Given the description of an element on the screen output the (x, y) to click on. 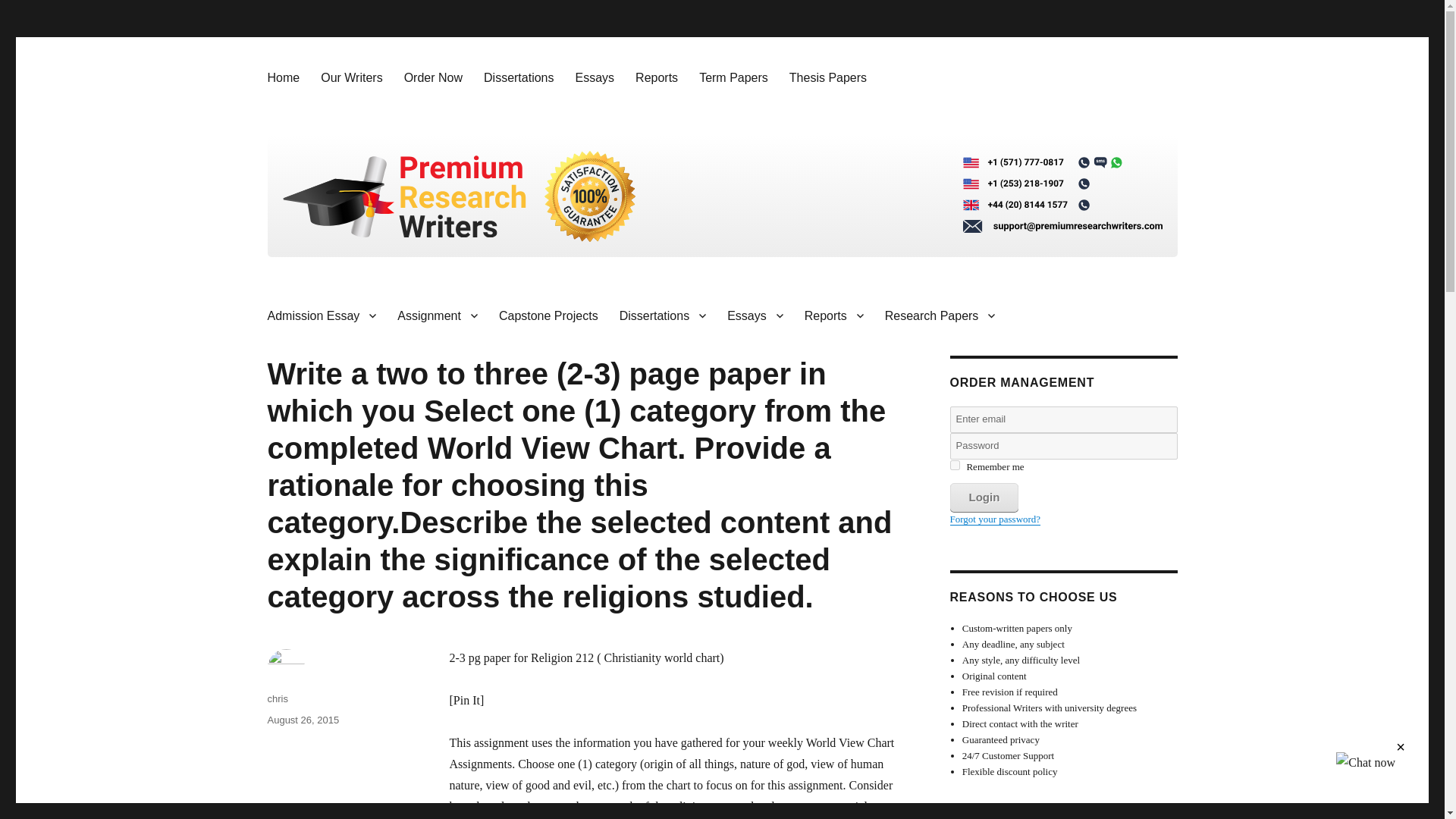
Admission Essay (321, 315)
Order Now (433, 77)
Term Papers (733, 77)
Our Writers (351, 77)
Thesis Papers (827, 77)
Dissertations (518, 77)
Dissertations (662, 315)
Essays (595, 77)
Capstone Projects (547, 315)
on (954, 465)
Assignment (437, 315)
Reports (656, 77)
click to Login (983, 497)
Reports (834, 315)
Essays (754, 315)
